Given the description of an element on the screen output the (x, y) to click on. 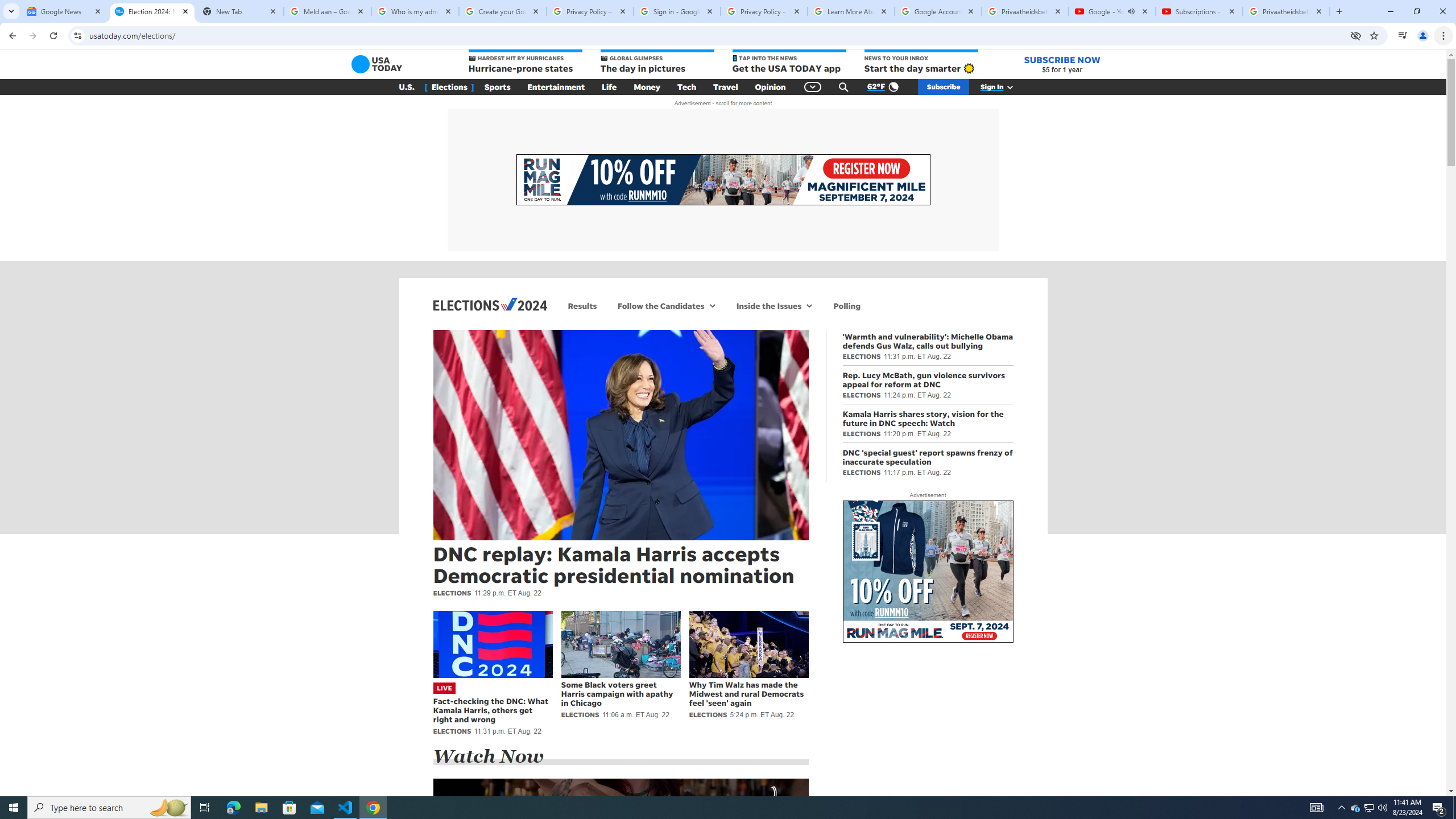
Follow the Candidates (658, 305)
Google - YouTube - Audio playing (1111, 11)
Google Account (938, 11)
Travel (725, 87)
Subscriptions - YouTube (1198, 11)
Sports (497, 87)
